Given the description of an element on the screen output the (x, y) to click on. 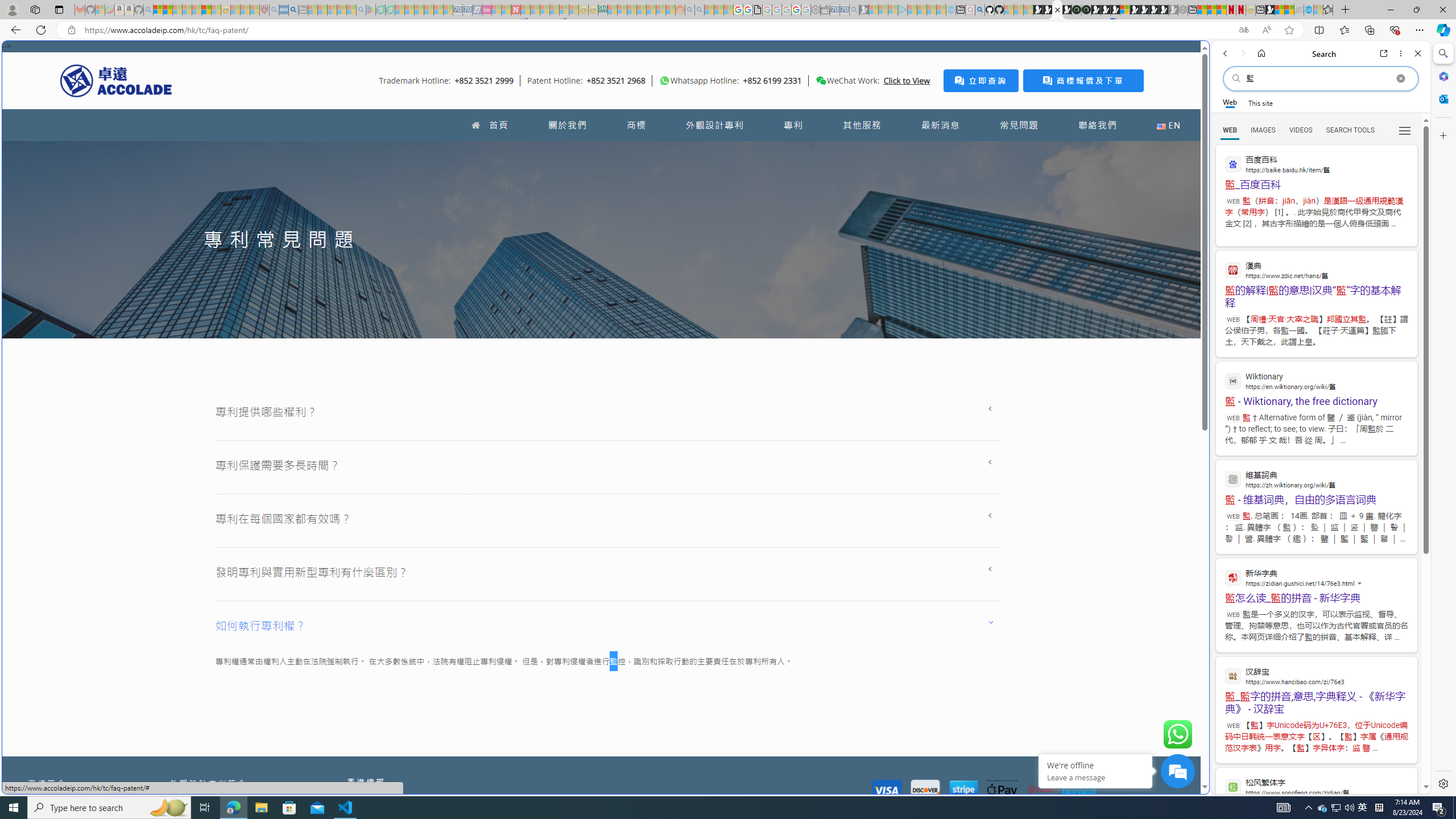
Accolade IP HK Logo (116, 80)
Future Focus Report 2024 (1085, 9)
